Given the description of an element on the screen output the (x, y) to click on. 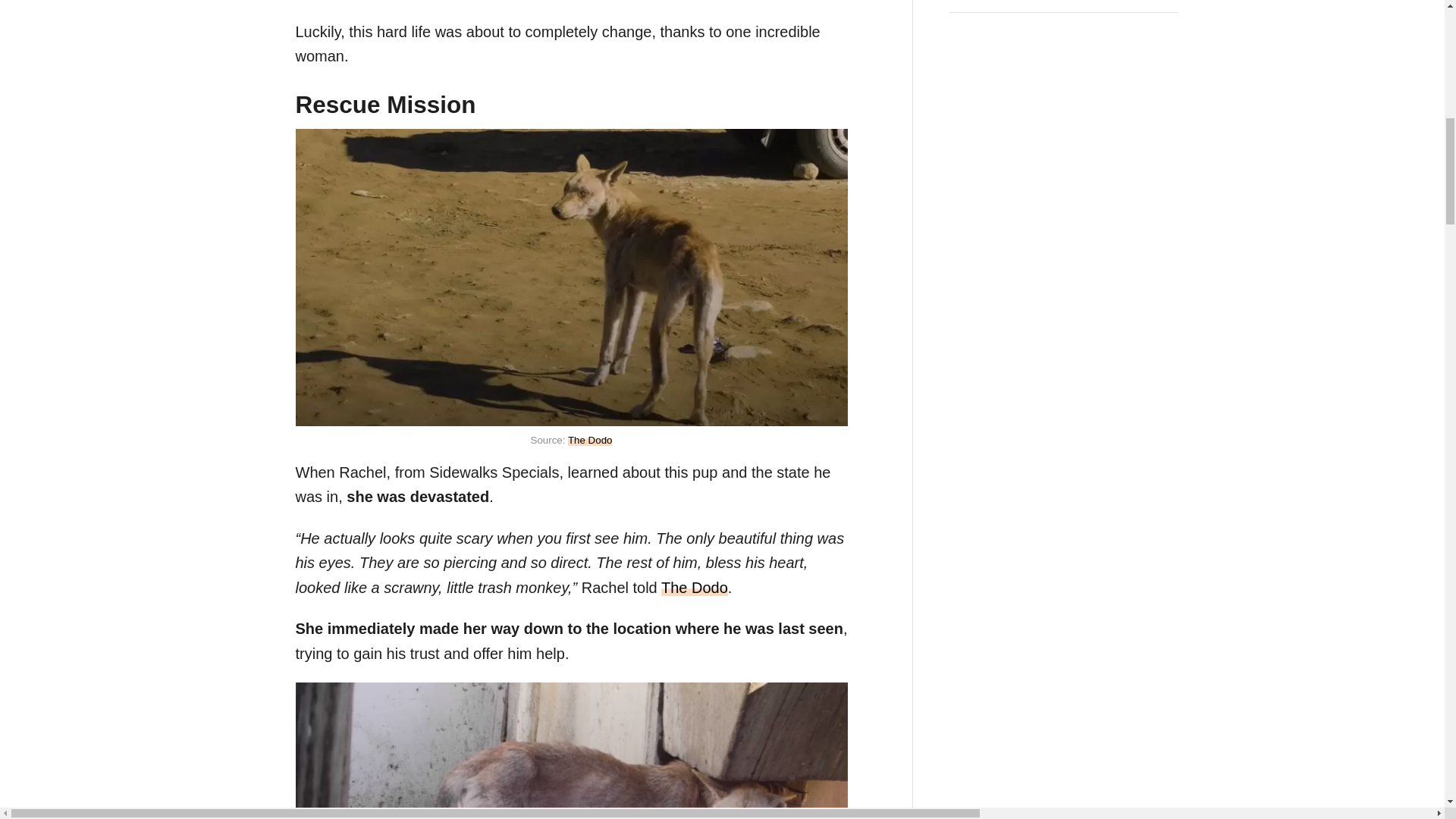
The Dodo (694, 587)
The Dodo (589, 439)
